Given the description of an element on the screen output the (x, y) to click on. 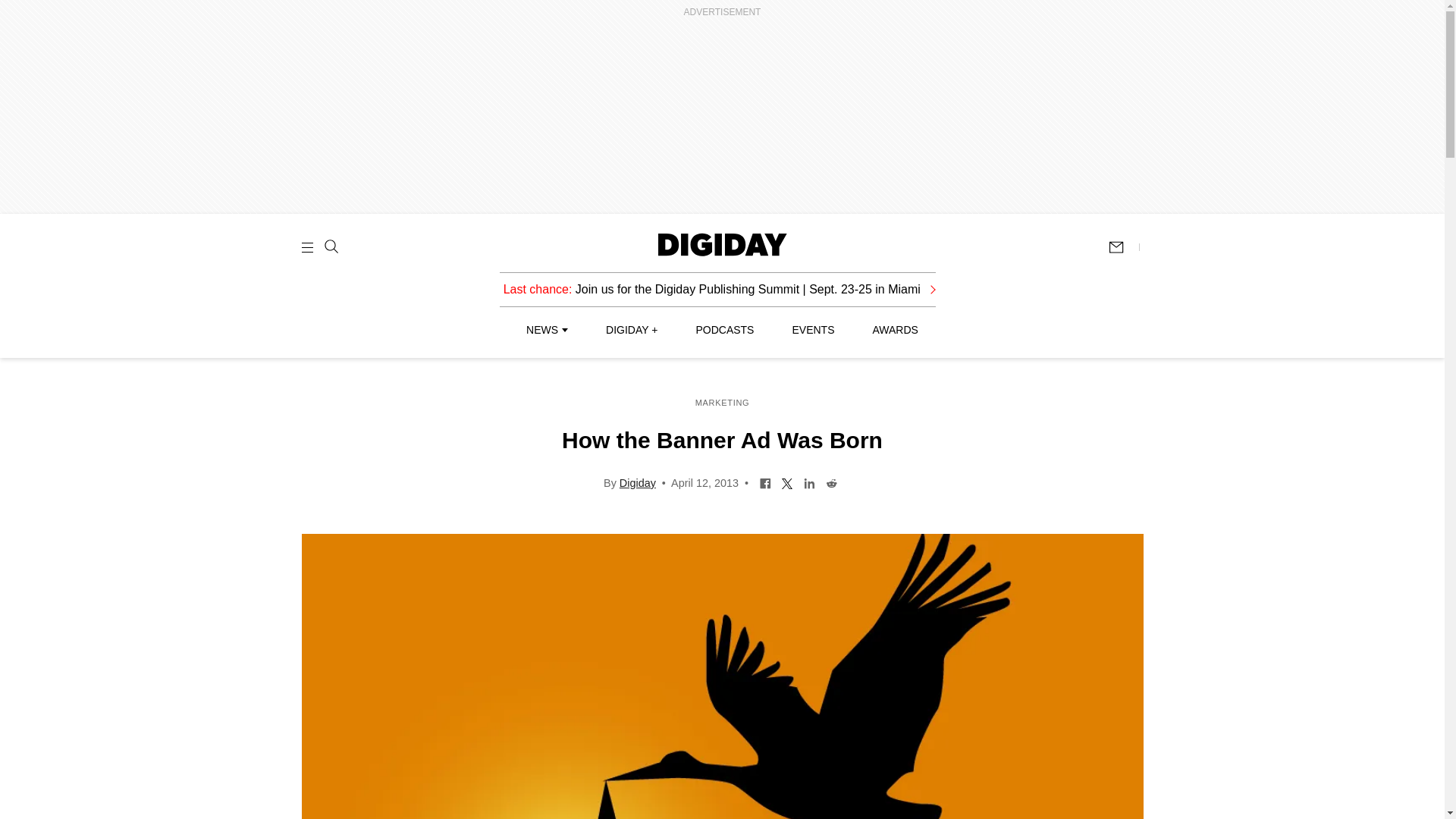
PODCASTS (725, 329)
Share on Reddit (831, 481)
EVENTS (813, 329)
AWARDS (894, 329)
Share on Twitter (786, 481)
Share on Facebook (764, 481)
Subscribe (1123, 246)
Share on LinkedIn (809, 481)
NEWS (546, 329)
